Given the description of an element on the screen output the (x, y) to click on. 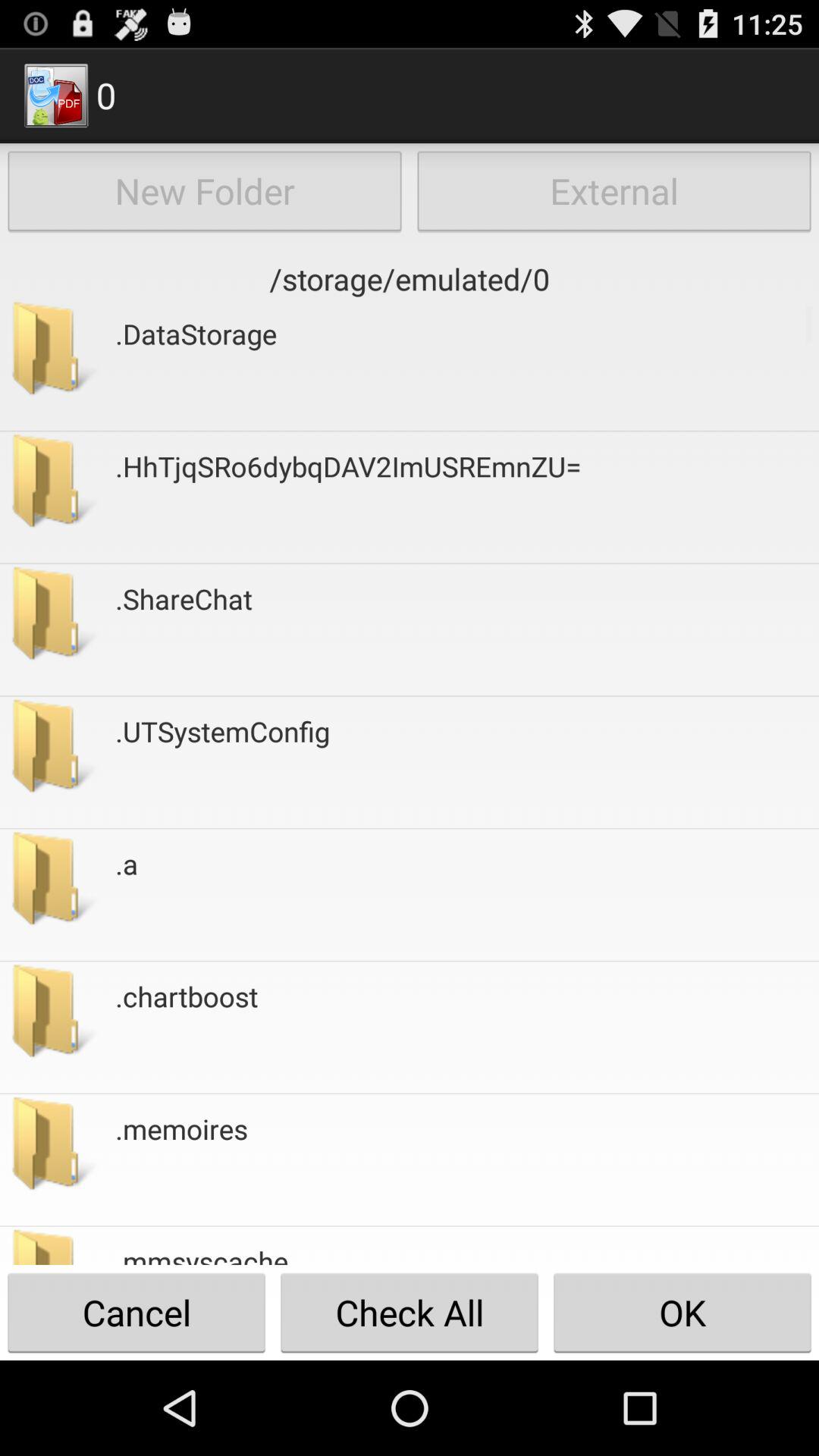
turn off icon above the .chartboost (126, 894)
